Given the description of an element on the screen output the (x, y) to click on. 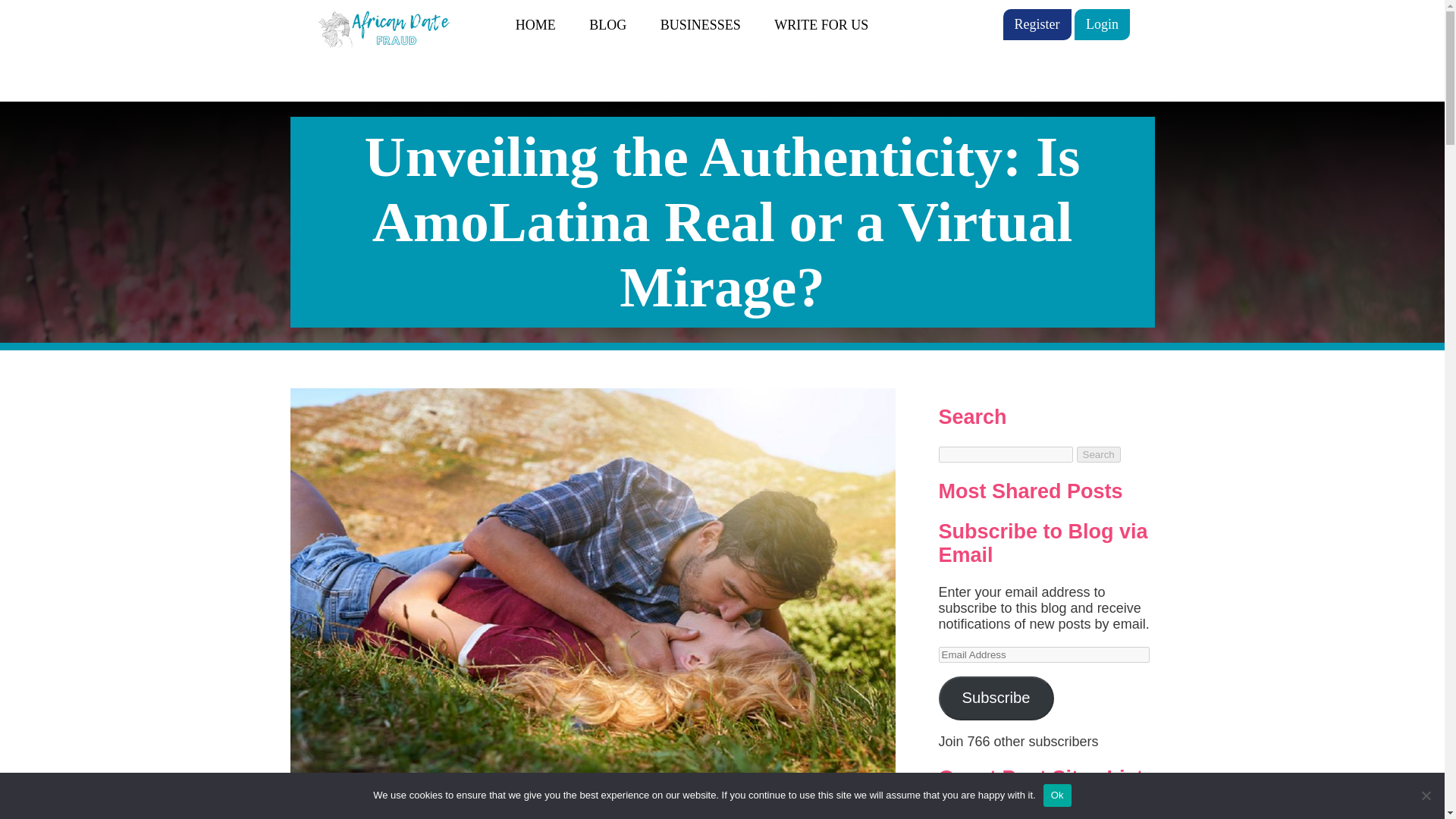
Dating Guest Posting Sites Network (1026, 812)
Search (1099, 454)
Subscribe (996, 698)
Search (1099, 454)
Login (1101, 24)
Share (439, 811)
Tweet (742, 811)
BUSINESSES (701, 24)
WRITE FOR US (820, 24)
BLOG (607, 24)
AfricanDate Fraud (395, 26)
HOME (535, 24)
Register (1036, 24)
